Given the description of an element on the screen output the (x, y) to click on. 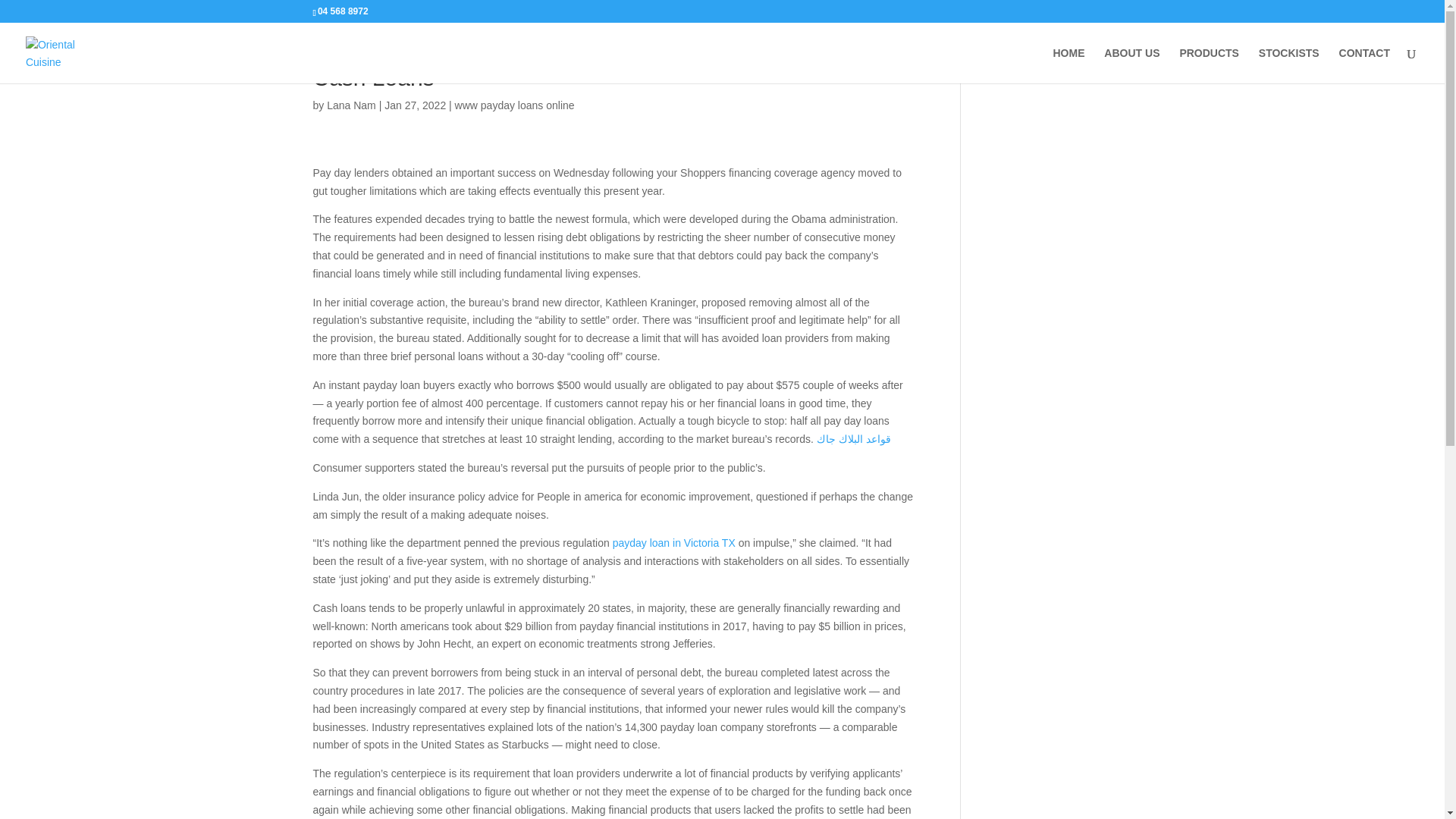
Search (1106, 59)
PRODUCTS (1209, 65)
STOCKISTS (1289, 65)
HOME (1068, 65)
ABOUT US (1130, 65)
Search (1106, 59)
Posts by Lana Nam (350, 105)
Lana Nam (350, 105)
payday loan in Victoria TX (673, 542)
CONTACT (1364, 65)
